Given the description of an element on the screen output the (x, y) to click on. 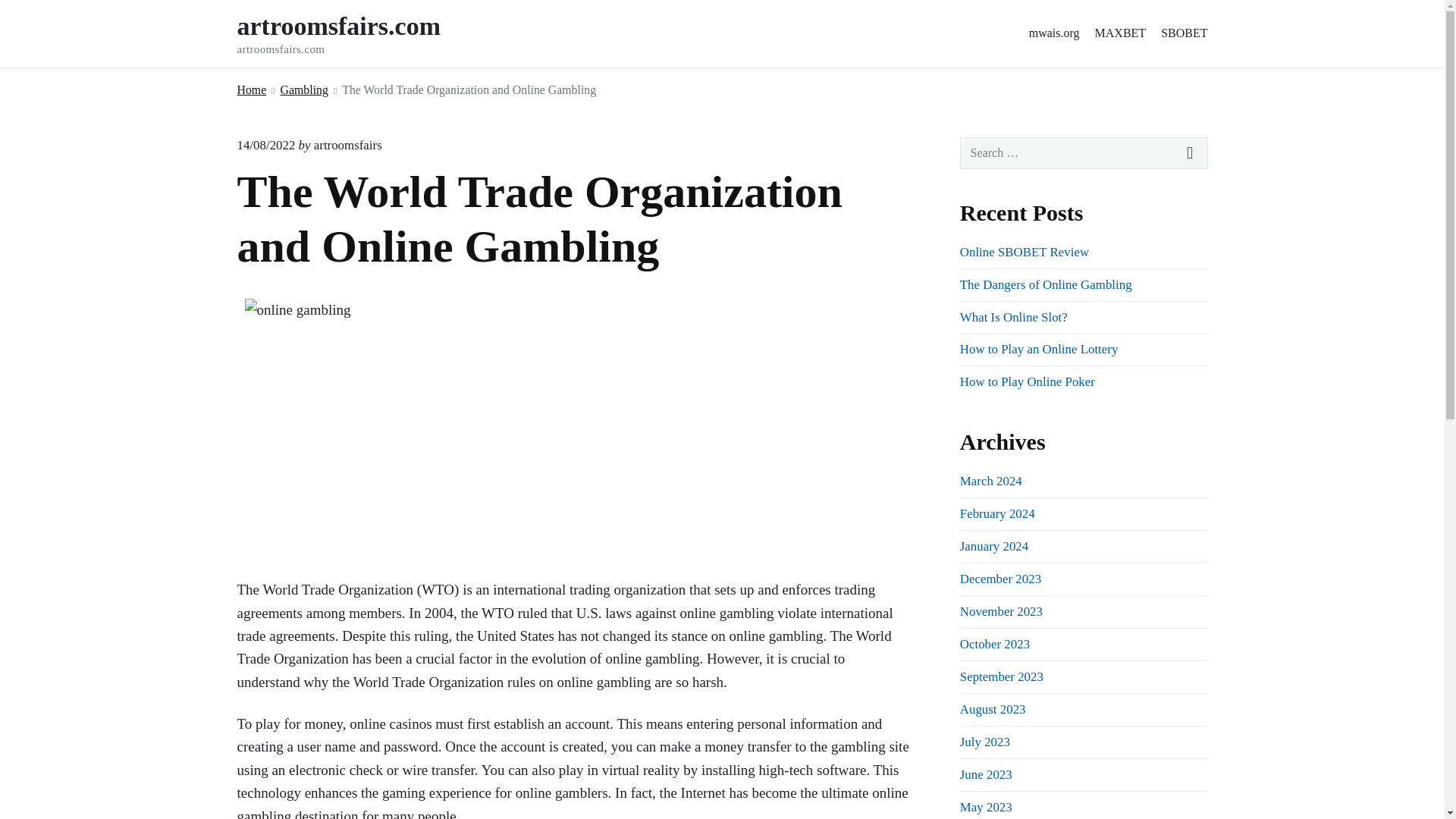
artroomsfairs (347, 145)
Sunday, August 14, 2022, 10:59 am (265, 145)
January 2024 (993, 545)
The Dangers of Online Gambling (1045, 284)
November 2023 (1000, 611)
How to Play an Online Lottery (1038, 349)
Online SBOBET Review (1024, 251)
Search for: (1083, 152)
mwais.org (1054, 32)
June 2023 (985, 774)
December 2023 (1000, 578)
July 2023 (984, 741)
SEARCH (1190, 152)
What Is Online Slot? (1013, 317)
How to Play Online Poker (1026, 381)
